Given the description of an element on the screen output the (x, y) to click on. 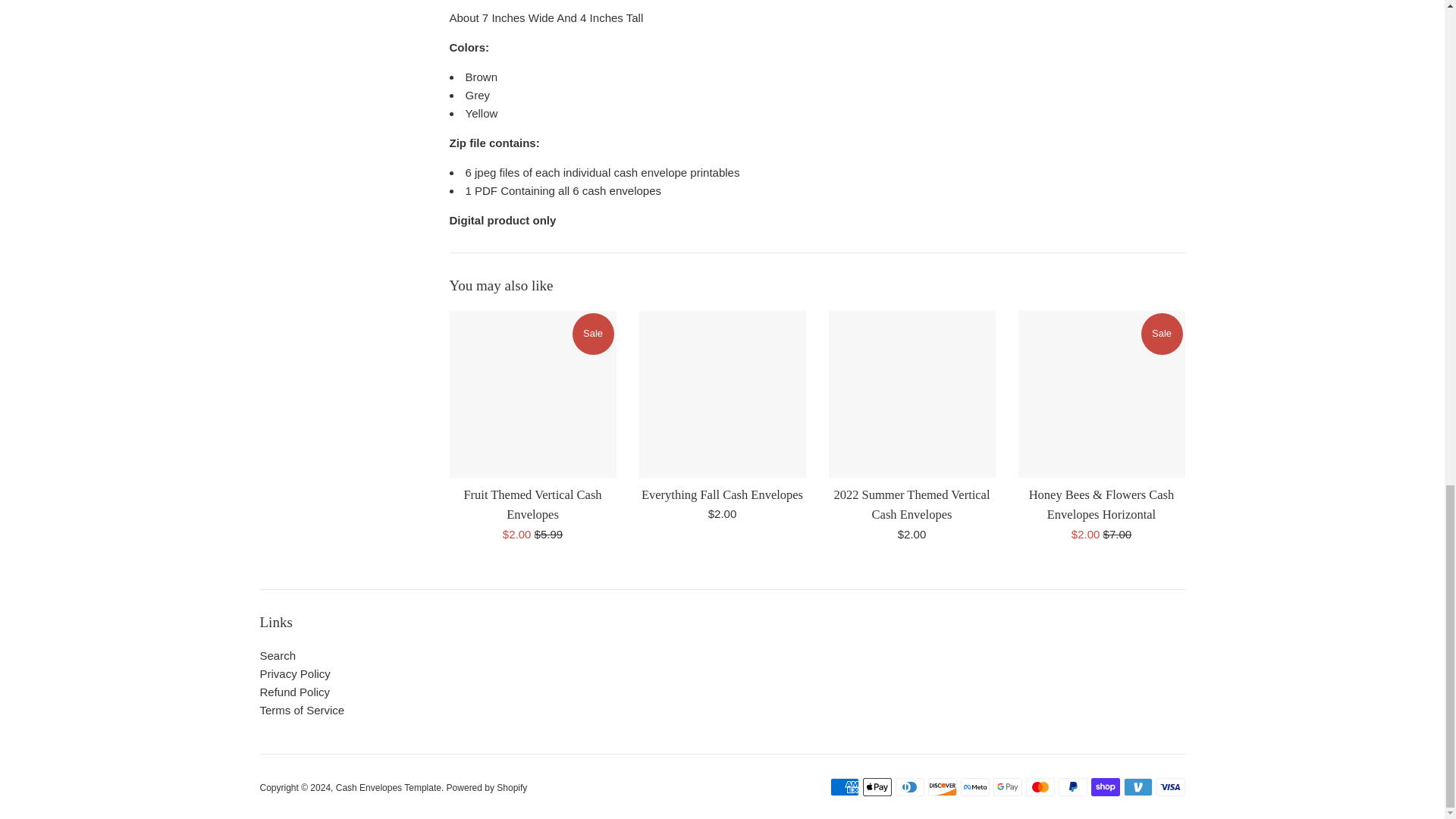
Google Pay (1007, 787)
2022 Summer Themed Vertical Cash Envelopes (911, 504)
Shop Pay (1104, 787)
Discover (942, 787)
Venmo (1138, 787)
Fruit Themed Vertical Cash Envelopes (531, 394)
Meta Pay (973, 787)
Mastercard (1039, 787)
PayPal (1072, 787)
Visa (1170, 787)
Everything Fall Cash Envelopes (722, 494)
Everything Fall Cash Envelopes (722, 394)
Diners Club (909, 787)
Apple Pay (877, 787)
Fruit Themed Vertical Cash Envelopes (532, 504)
